Given the description of an element on the screen output the (x, y) to click on. 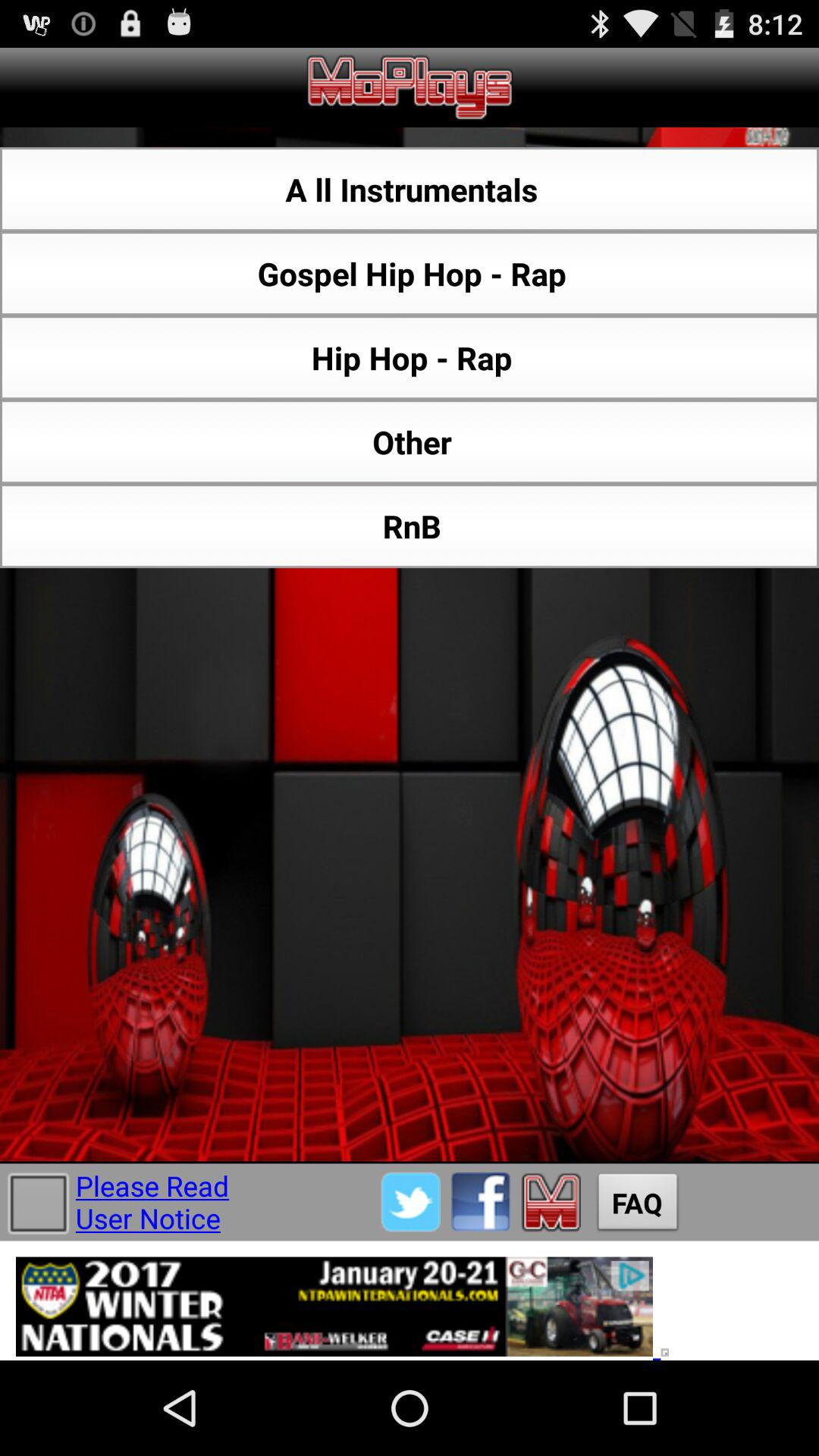
share on facebook (480, 1201)
